Given the description of an element on the screen output the (x, y) to click on. 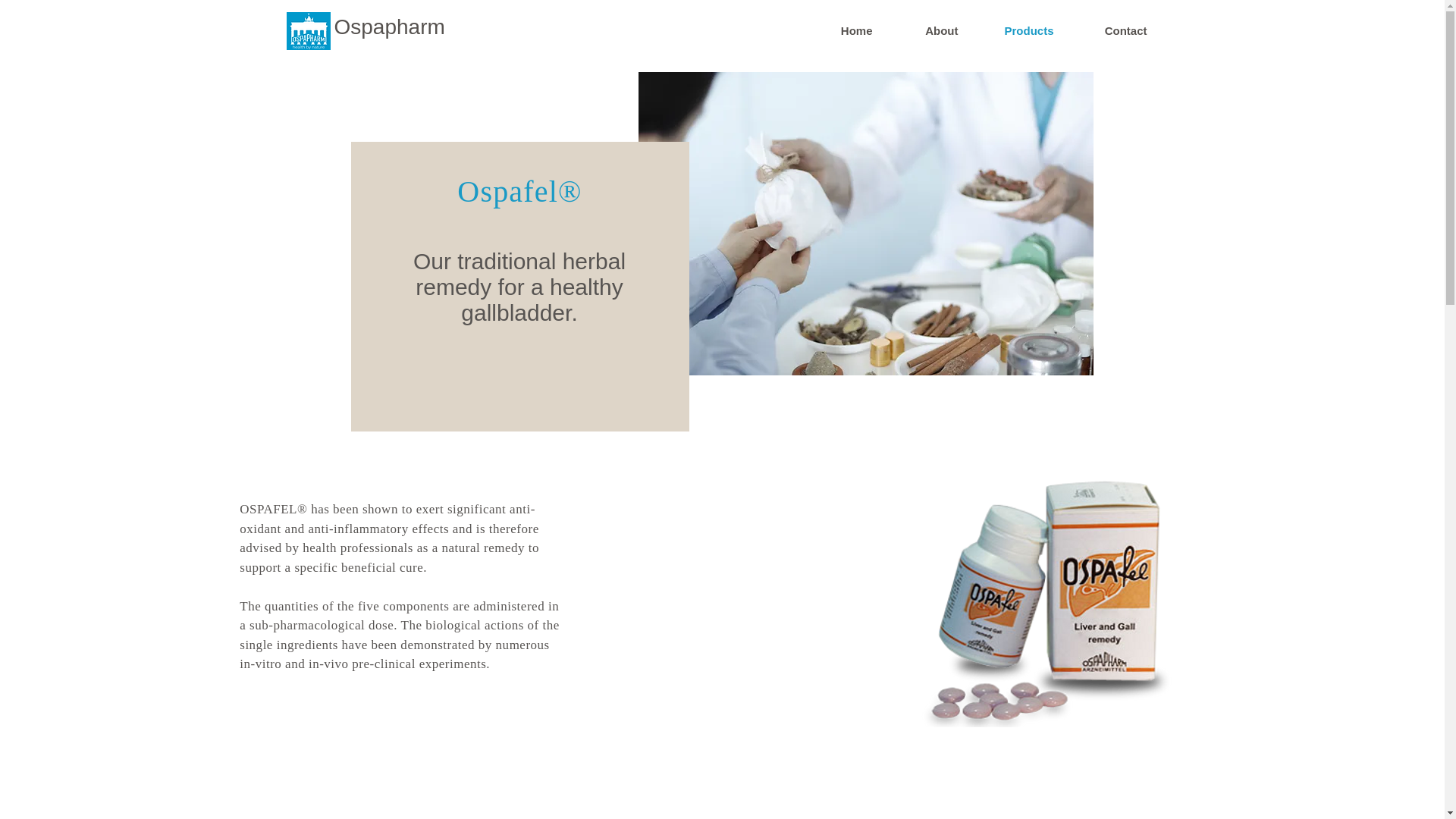
Products (1016, 30)
osparen.png (1045, 598)
Contact (1110, 30)
Ospapharm (388, 26)
Home (839, 30)
About (926, 30)
logo ospa.png (308, 30)
